Given the description of an element on the screen output the (x, y) to click on. 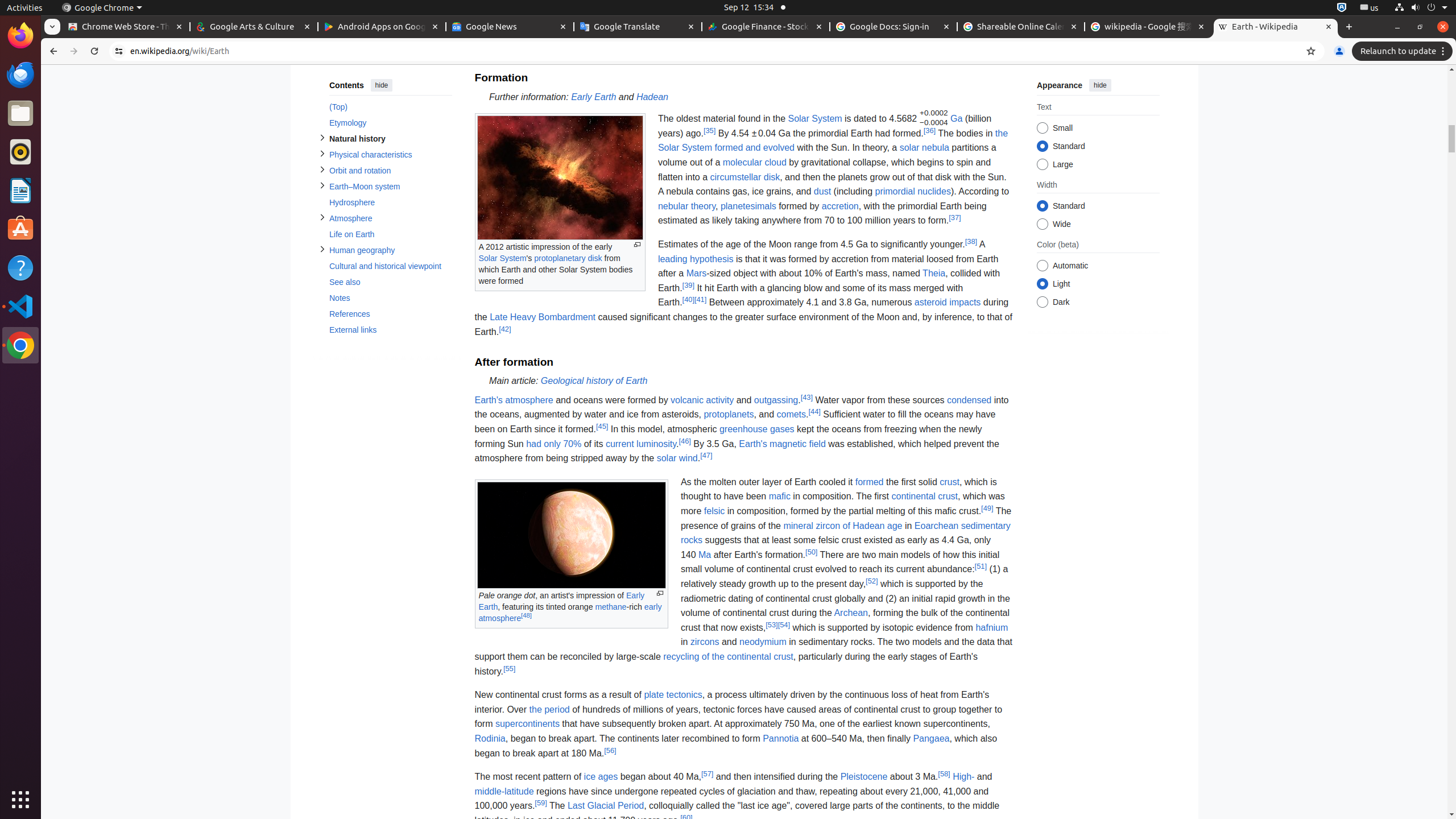
hide Element type: push-button (381, 85)
middle-latitude Element type: link (504, 791)
[55] Element type: link (508, 667)
Atmosphere Element type: link (390, 218)
External links Element type: link (390, 329)
